Given the description of an element on the screen output the (x, y) to click on. 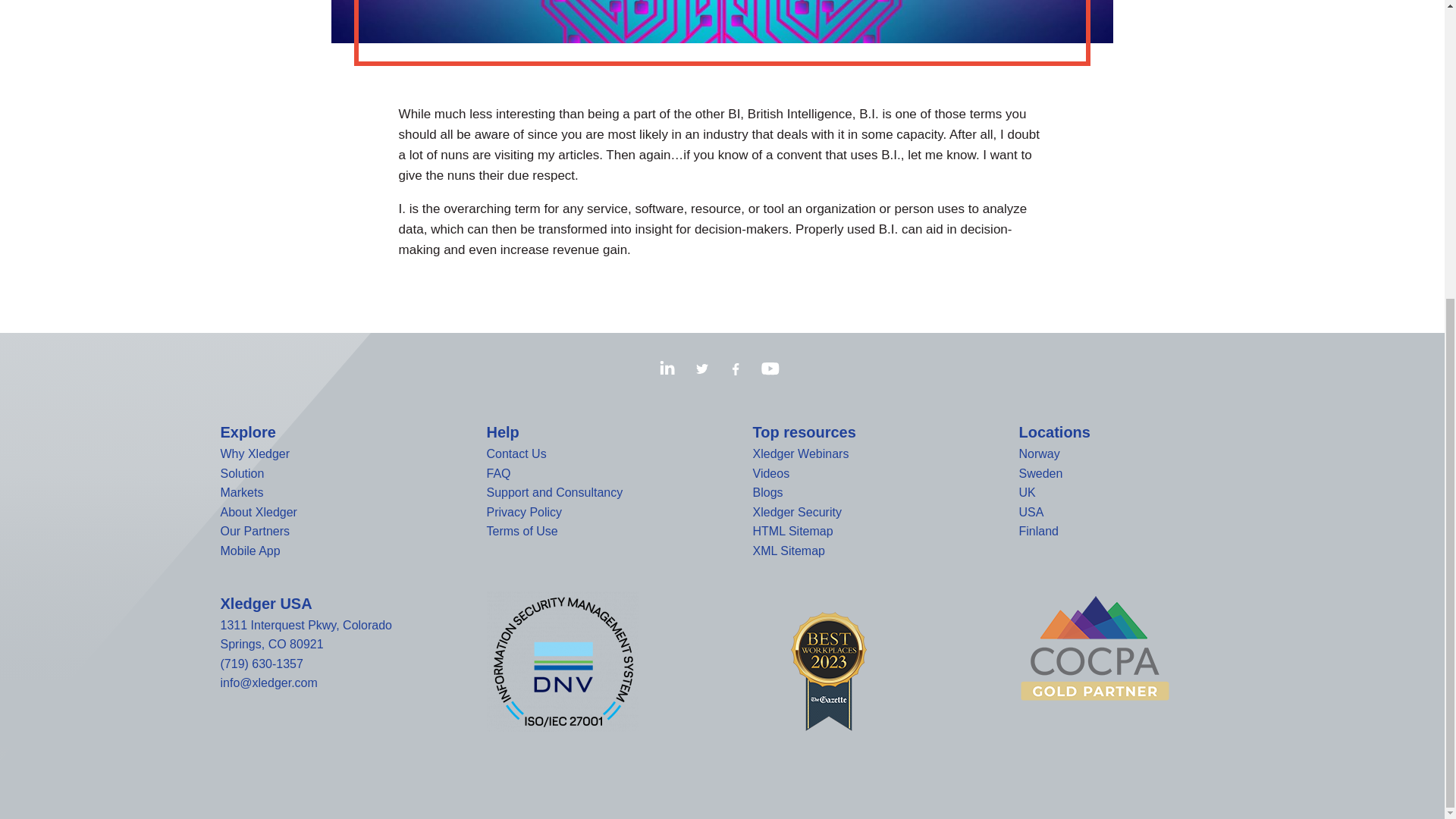
Xledger ISO 27001 Certified (562, 661)
